Given the description of an element on the screen output the (x, y) to click on. 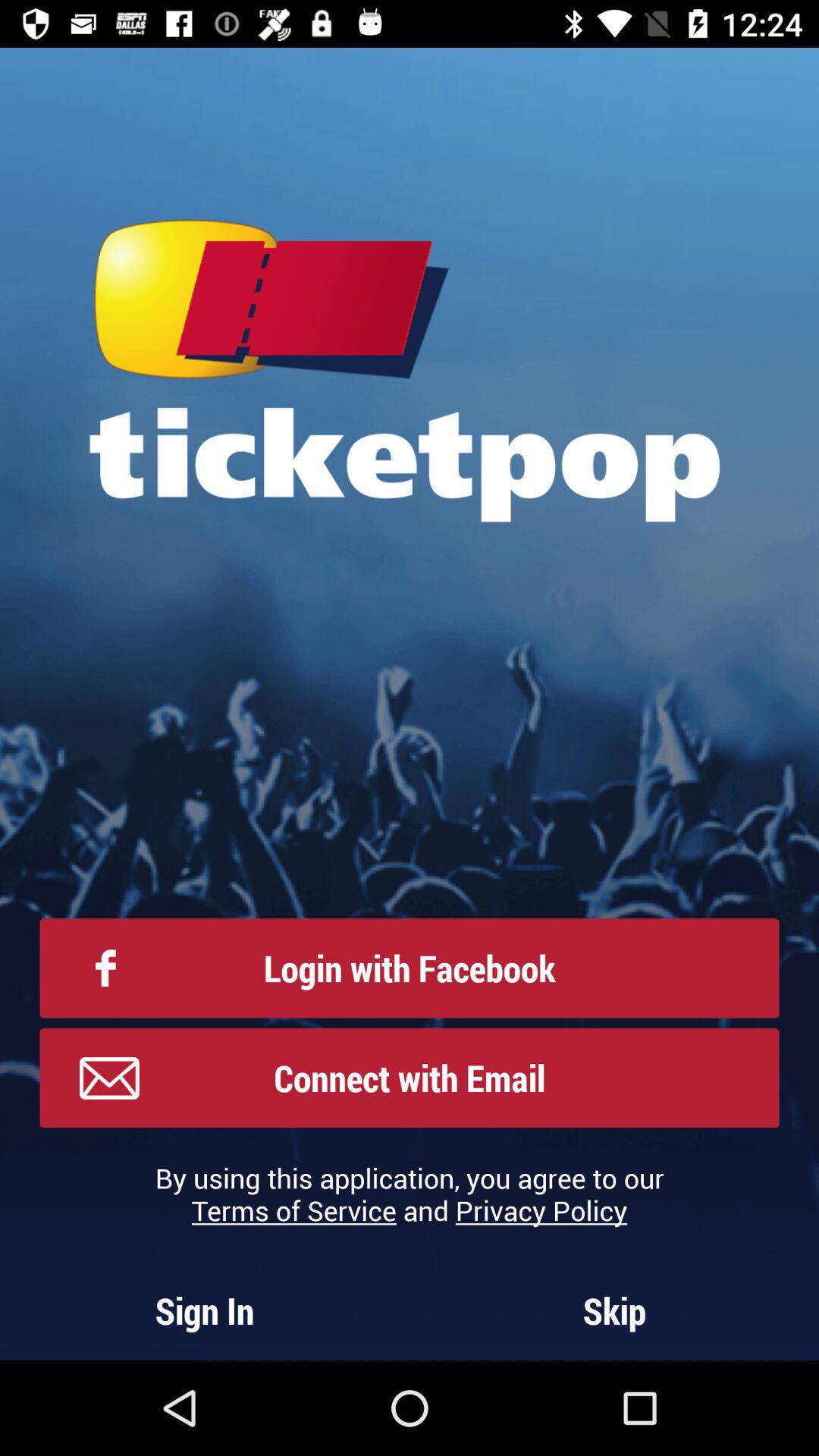
open skip (614, 1310)
